Given the description of an element on the screen output the (x, y) to click on. 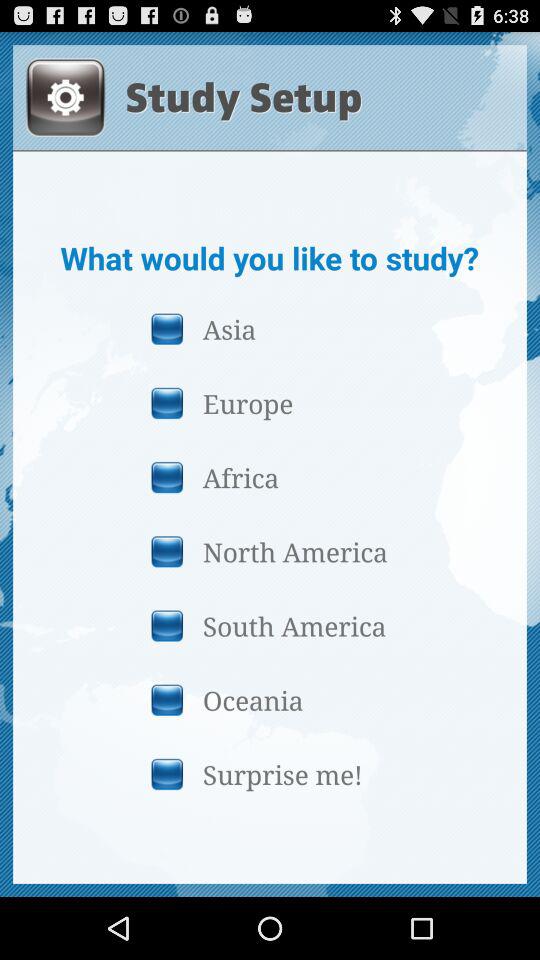
open item below the what would you app (269, 328)
